Given the description of an element on the screen output the (x, y) to click on. 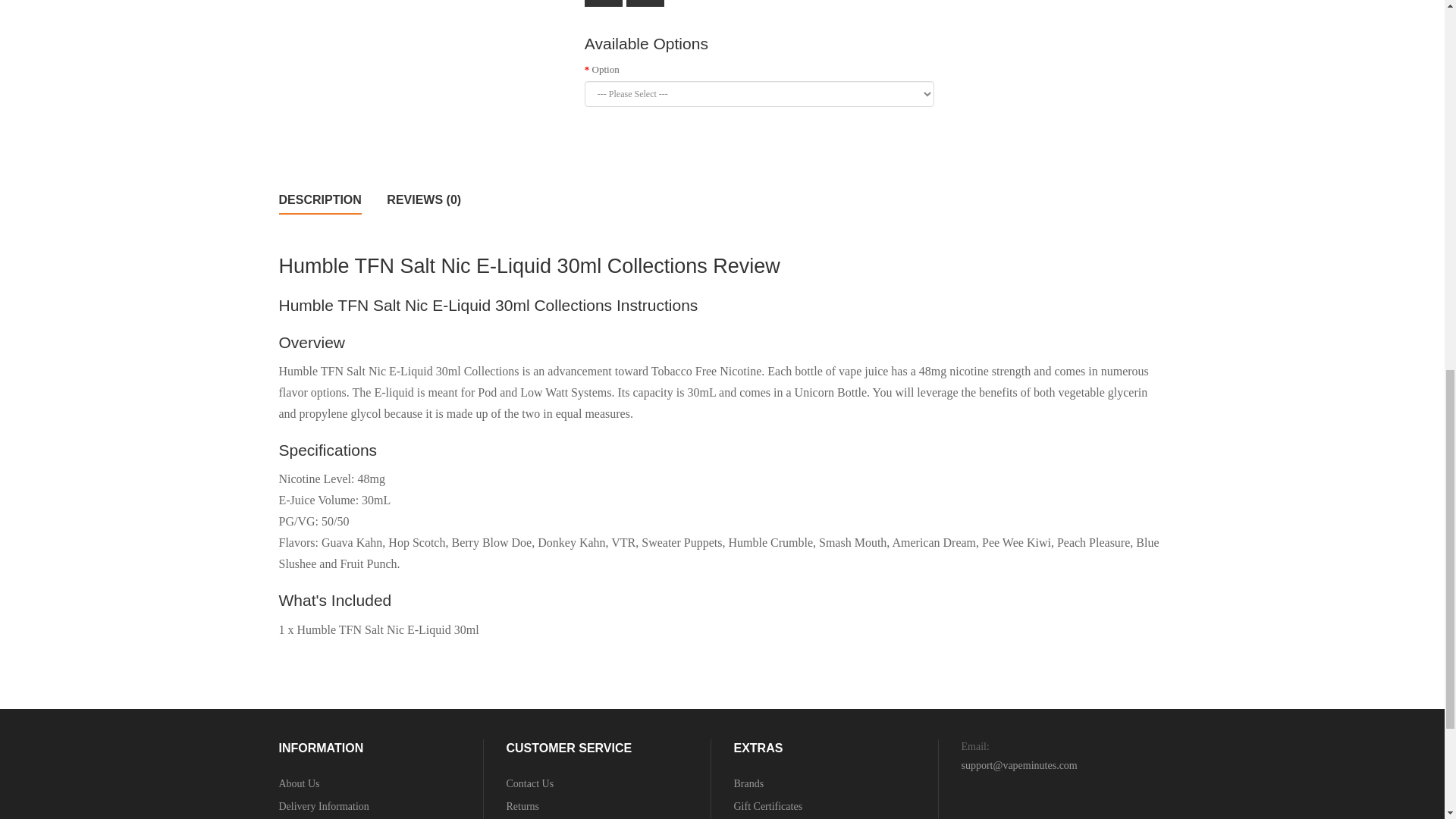
Compare this Product (644, 3)
Add to Wish List (604, 3)
